Given the description of an element on the screen output the (x, y) to click on. 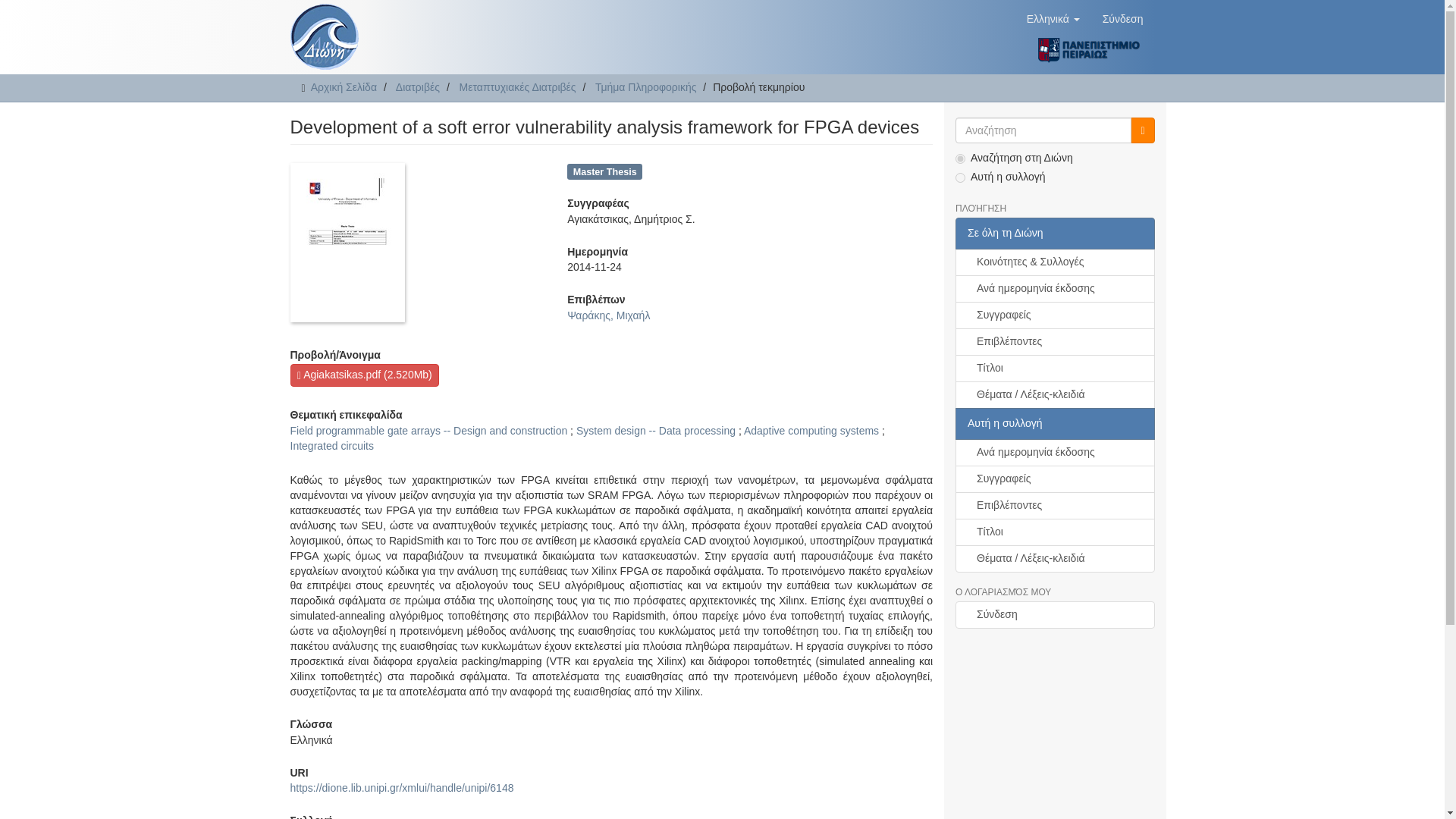
Integrated circuits (331, 445)
Field programmable gate arrays -- Design and construction (428, 430)
Adaptive computing systems (811, 430)
System design -- Data processing (655, 430)
